Given the description of an element on the screen output the (x, y) to click on. 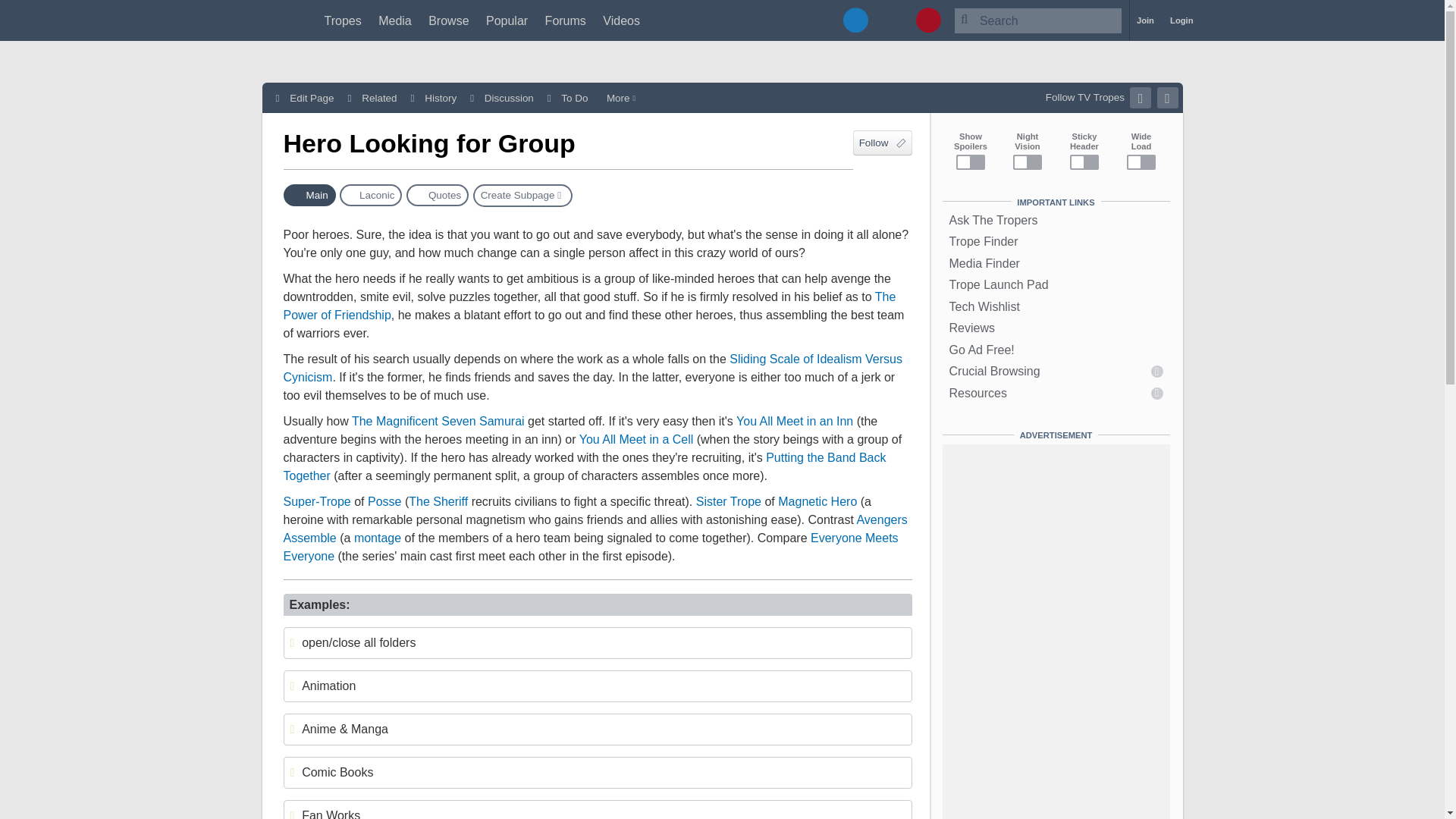
Media (395, 20)
The Main page (309, 195)
Tropes (342, 20)
Videos (621, 20)
Forums (565, 20)
Login (1181, 20)
The Laconic page (370, 195)
Popular (506, 20)
The Quotes page (437, 195)
Browse (448, 20)
